Given the description of an element on the screen output the (x, y) to click on. 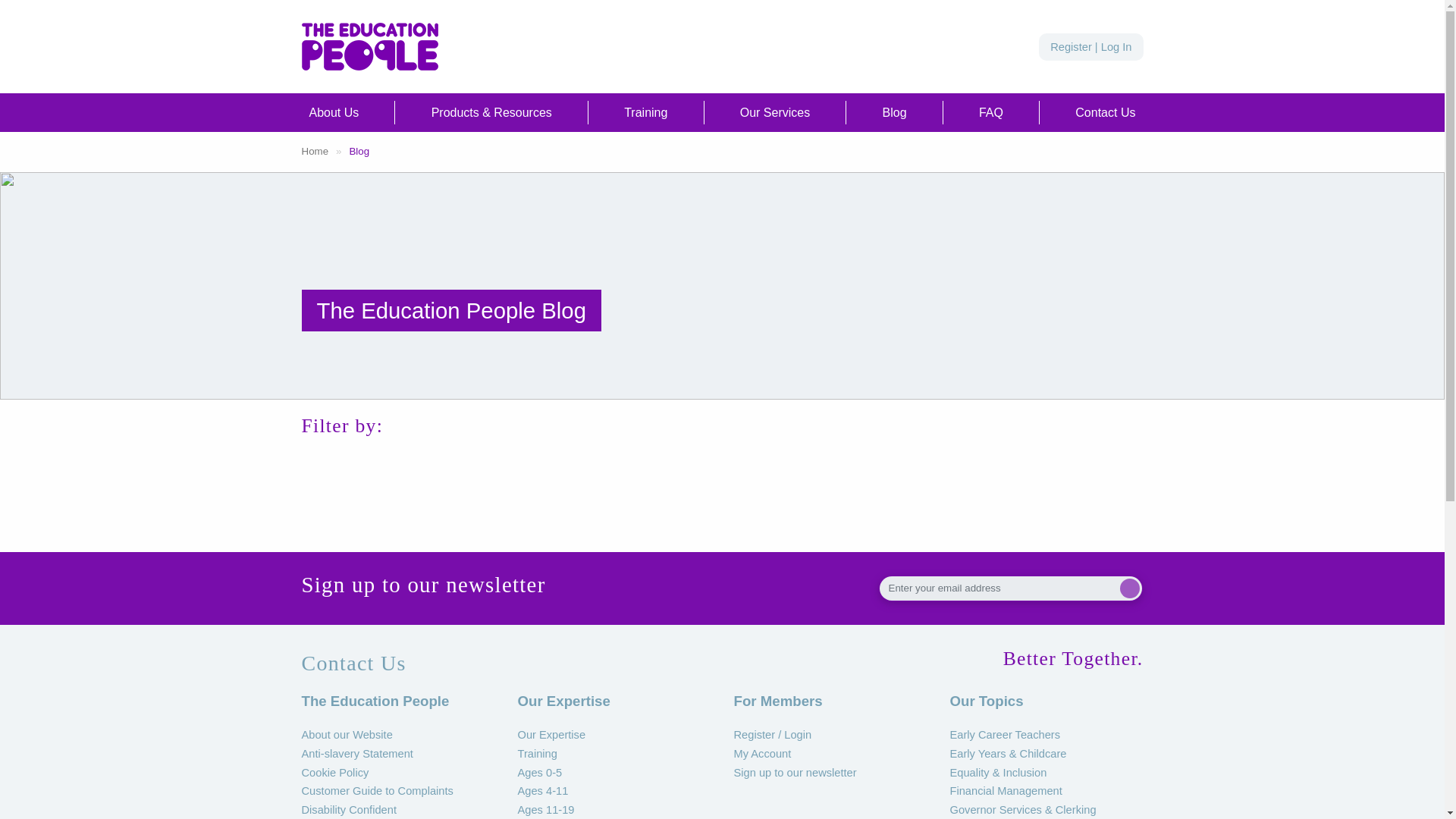
About Us (333, 112)
Blog (894, 112)
Our Services (774, 112)
